Given the description of an element on the screen output the (x, y) to click on. 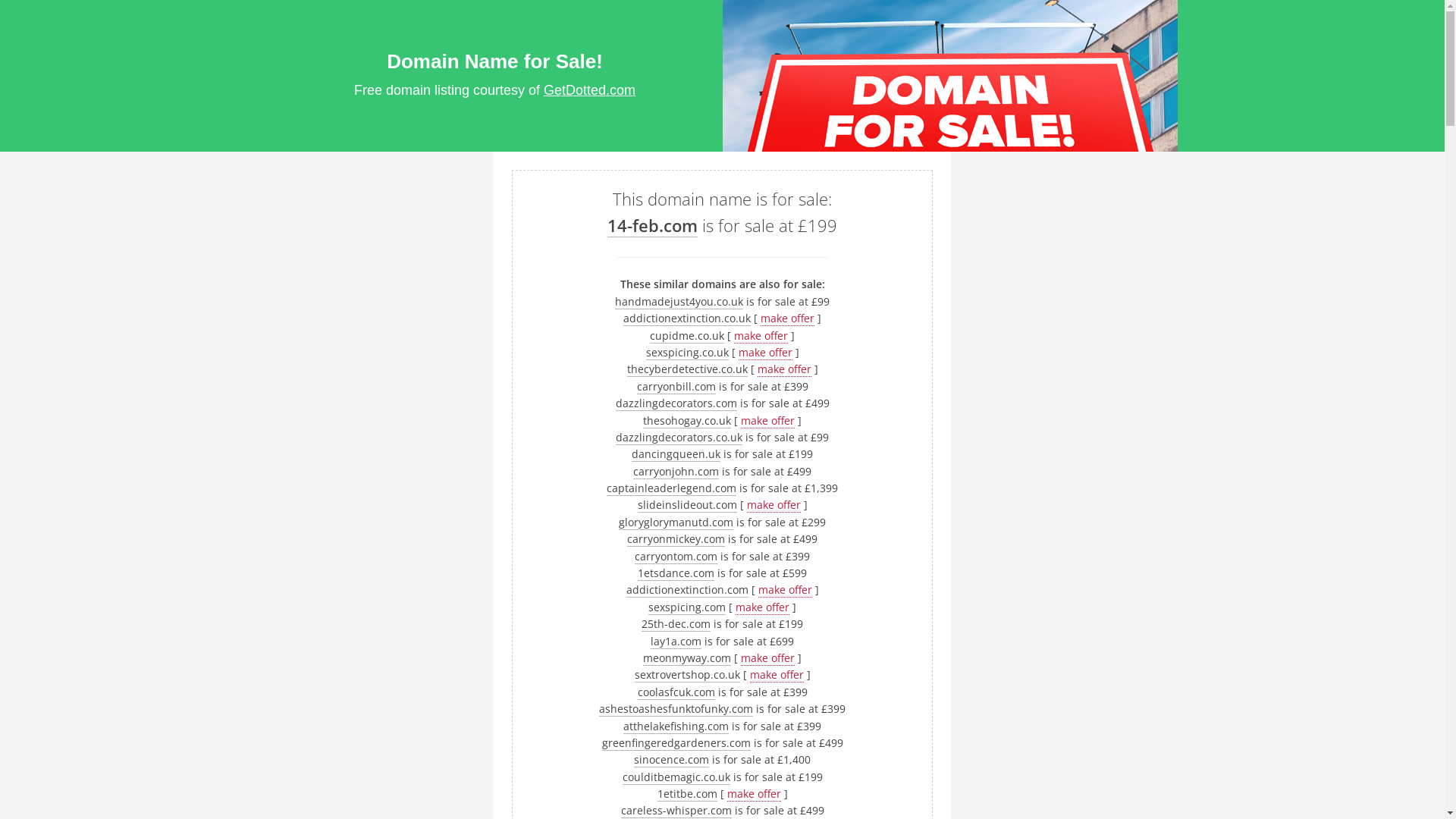
make offer Element type: text (762, 607)
dazzlingdecorators.co.uk Element type: text (678, 437)
addictionextinction.com Element type: text (687, 589)
carryonmickey.com Element type: text (675, 538)
cupidme.co.uk Element type: text (686, 335)
make offer Element type: text (783, 368)
make offer Element type: text (776, 674)
make offer Element type: text (753, 793)
ashestoashesfunktofunky.com Element type: text (676, 708)
lay1a.com Element type: text (675, 641)
make offer Element type: text (785, 589)
coulditbemagic.co.uk Element type: text (675, 776)
sextrovertshop.co.uk Element type: text (686, 674)
coolasfcuk.com Element type: text (675, 691)
slideinslideout.com Element type: text (686, 504)
carryonjohn.com Element type: text (675, 471)
carryonbill.com Element type: text (676, 386)
make offer Element type: text (765, 352)
careless-whisper.com Element type: text (675, 810)
25th-dec.com Element type: text (675, 623)
thesohogay.co.uk Element type: text (687, 419)
make offer Element type: text (767, 419)
handmadejust4you.co.uk Element type: text (679, 301)
1etitbe.com Element type: text (686, 793)
14-feb.com Element type: text (652, 225)
make offer Element type: text (787, 318)
dancingqueen.uk Element type: text (675, 453)
make offer Element type: text (760, 335)
carryontom.com Element type: text (675, 556)
sexspicing.co.uk Element type: text (687, 352)
gloryglorymanutd.com Element type: text (675, 522)
meonmyway.com Element type: text (687, 657)
1etsdance.com Element type: text (675, 572)
make offer Element type: text (773, 504)
make offer Element type: text (767, 657)
thecyberdetective.co.uk Element type: text (686, 368)
GetDotted.com Element type: text (589, 89)
addictionextinction.co.uk Element type: text (686, 318)
captainleaderlegend.com Element type: text (671, 487)
dazzlingdecorators.com Element type: text (676, 403)
sinocence.com Element type: text (671, 759)
greenfingeredgardeners.com Element type: text (676, 742)
atthelakefishing.com Element type: text (675, 726)
sexspicing.com Element type: text (686, 607)
